Given the description of an element on the screen output the (x, y) to click on. 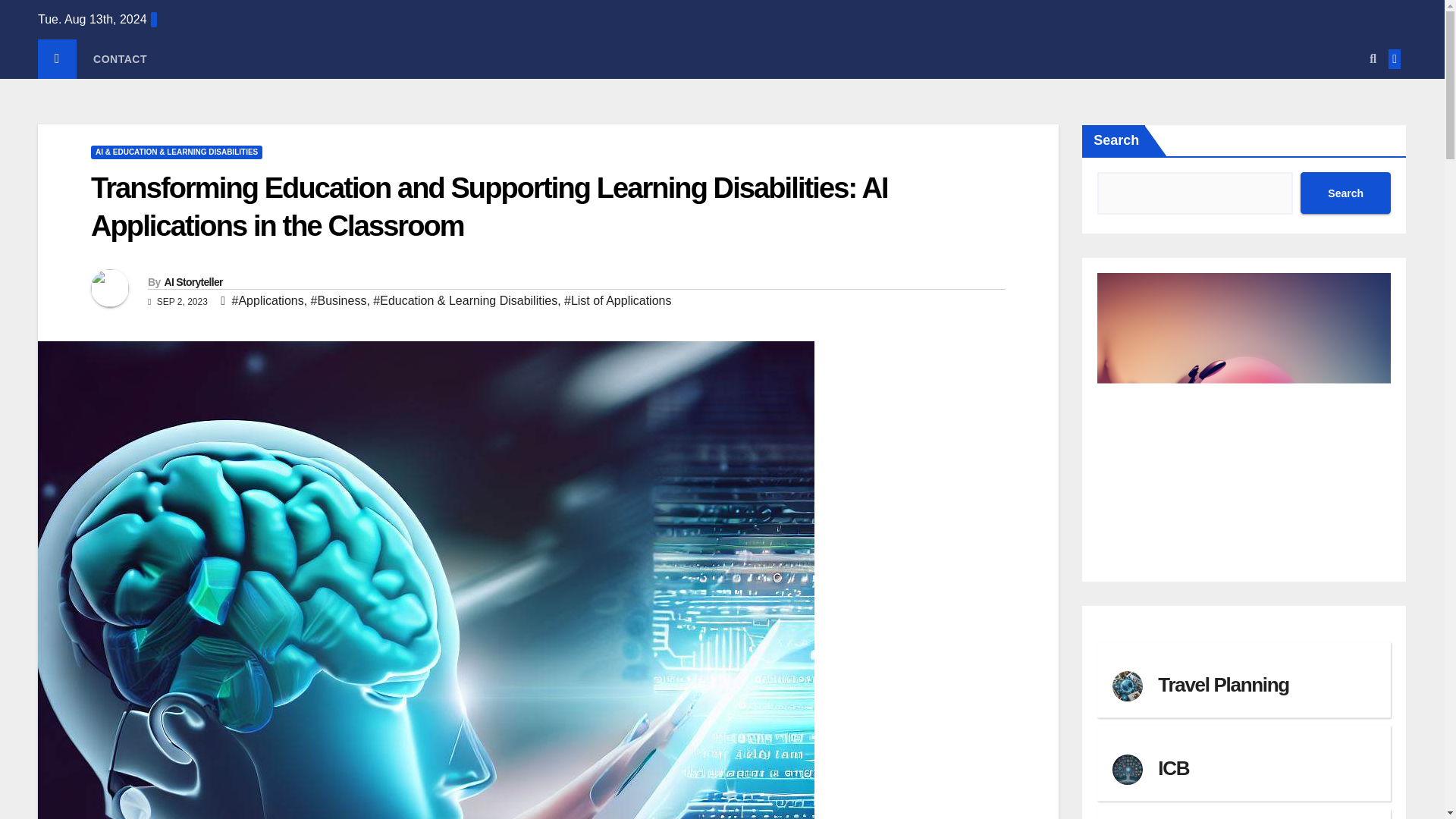
CONTACT (120, 58)
Contact (120, 58)
AI Storyteller (192, 282)
Search (1345, 192)
